Given the description of an element on the screen output the (x, y) to click on. 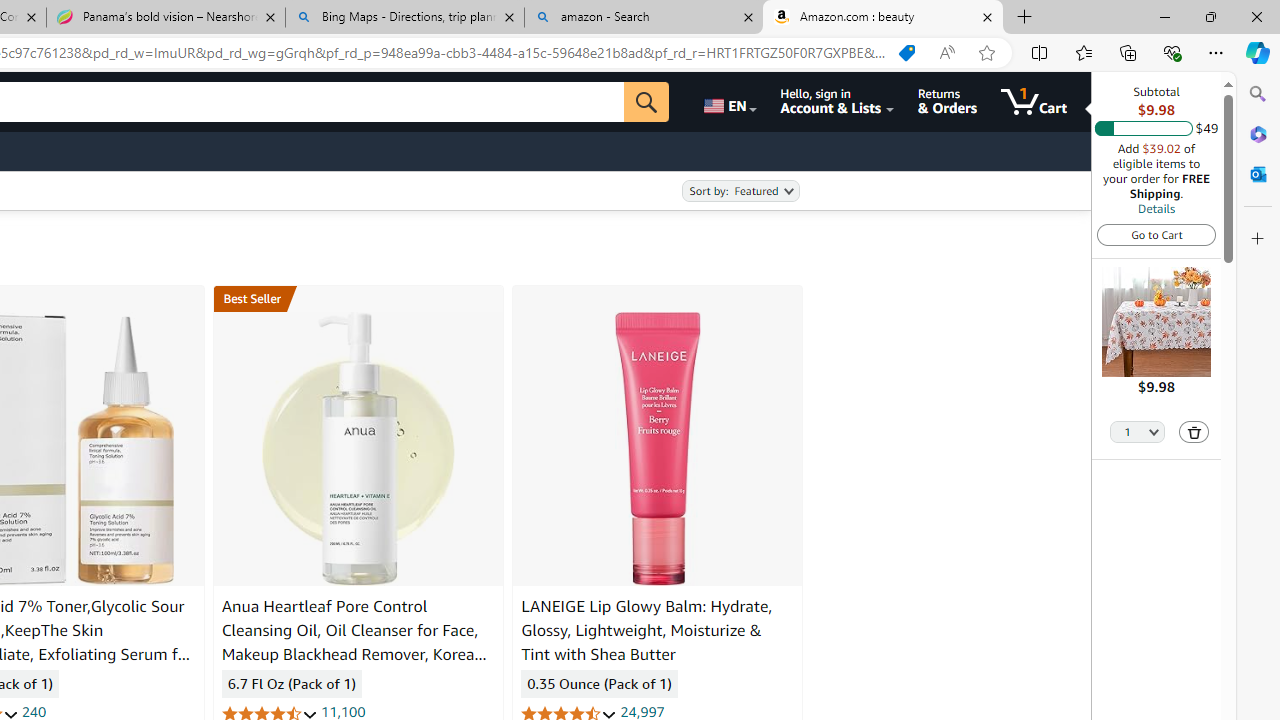
240 (33, 712)
Go to Cart (1156, 234)
Quantity Selector (1137, 430)
